Given the description of an element on the screen output the (x, y) to click on. 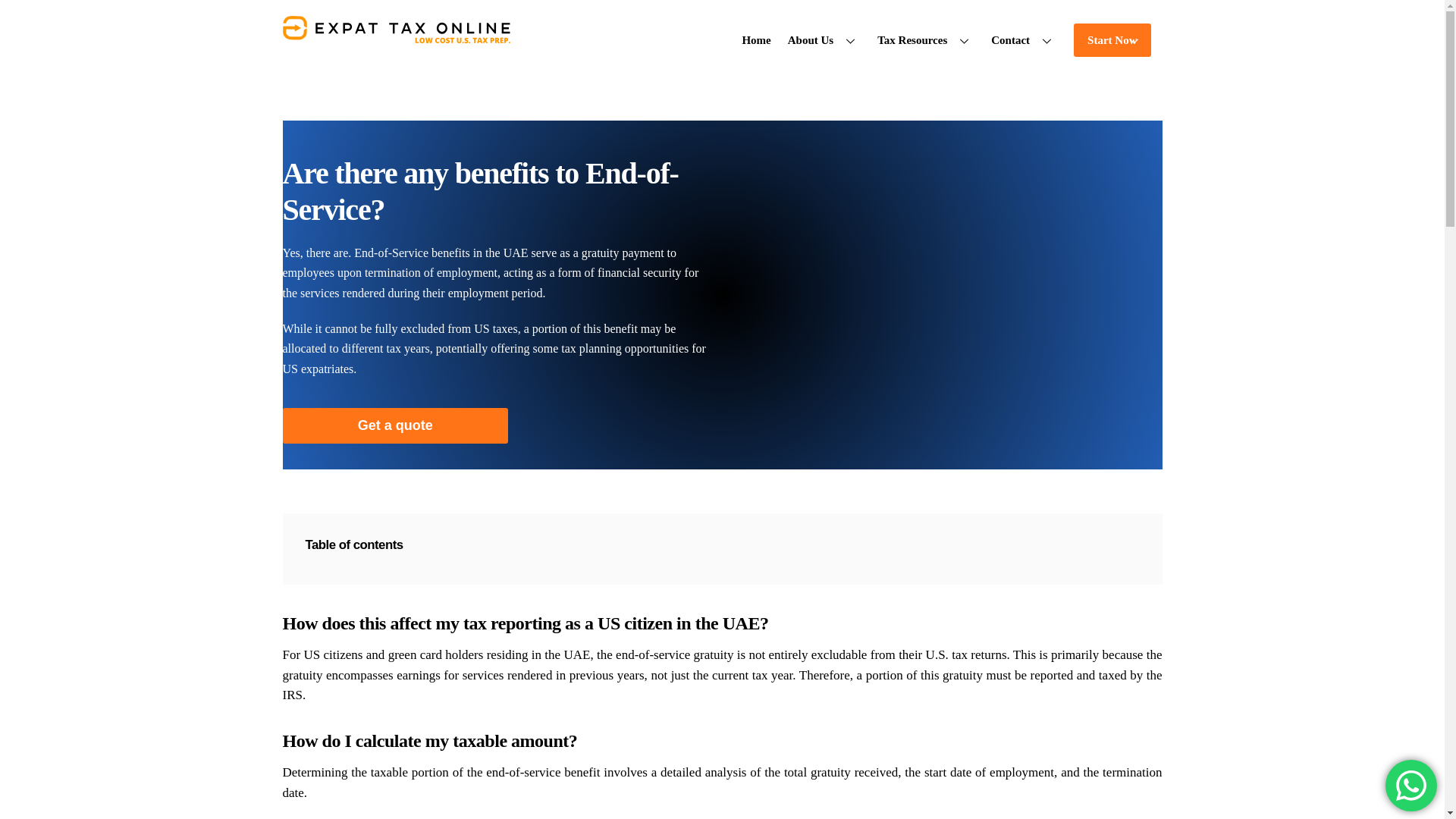
Start Now (1112, 39)
About Us (823, 39)
WhatsApp us (721, 34)
Get a quote (1411, 785)
Tax Resources (395, 425)
Contact (925, 39)
Home (1024, 39)
Expat Tax Online (756, 39)
